Given the description of an element on the screen output the (x, y) to click on. 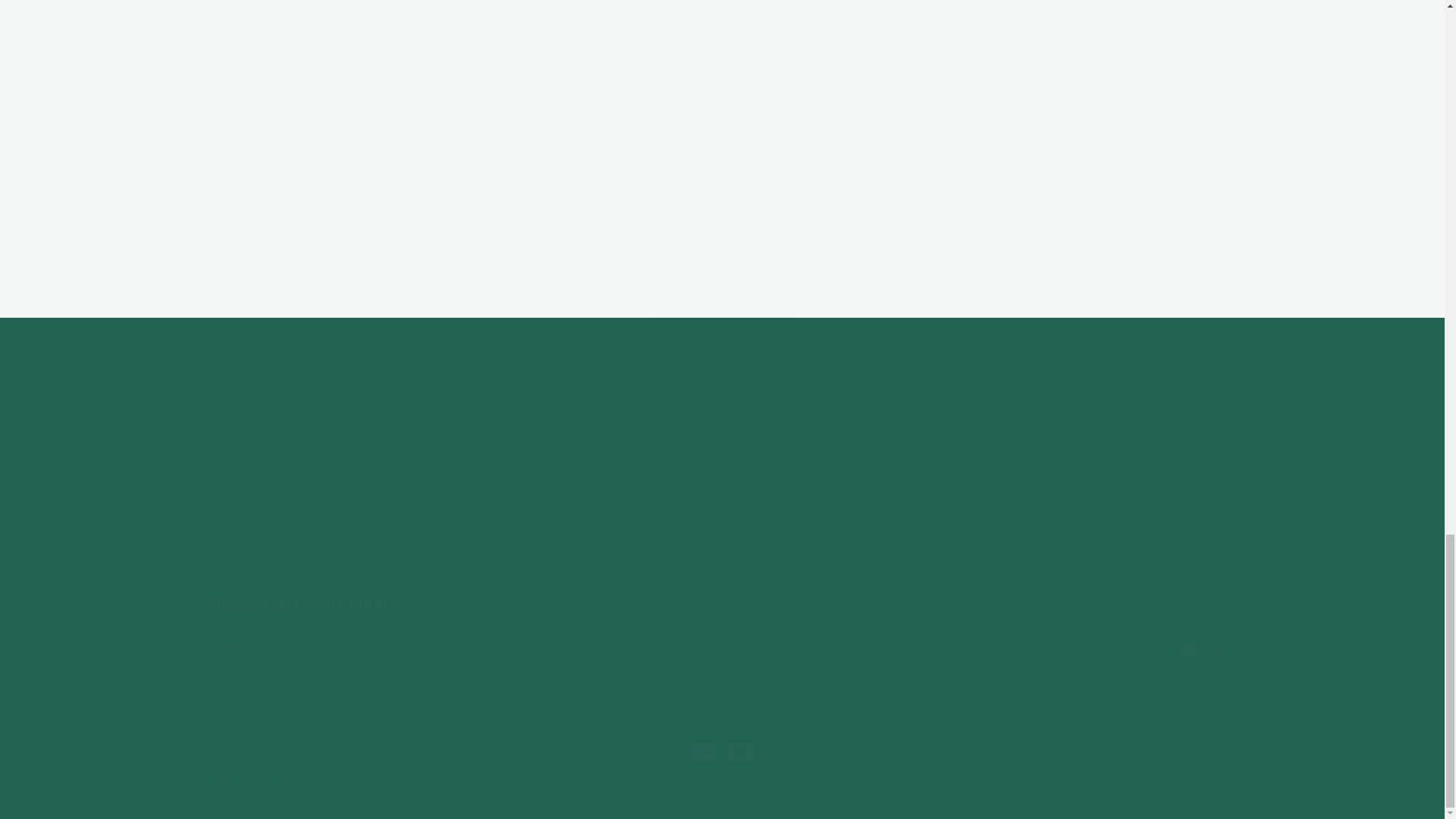
Contact Us (722, 629)
